Given the description of an element on the screen output the (x, y) to click on. 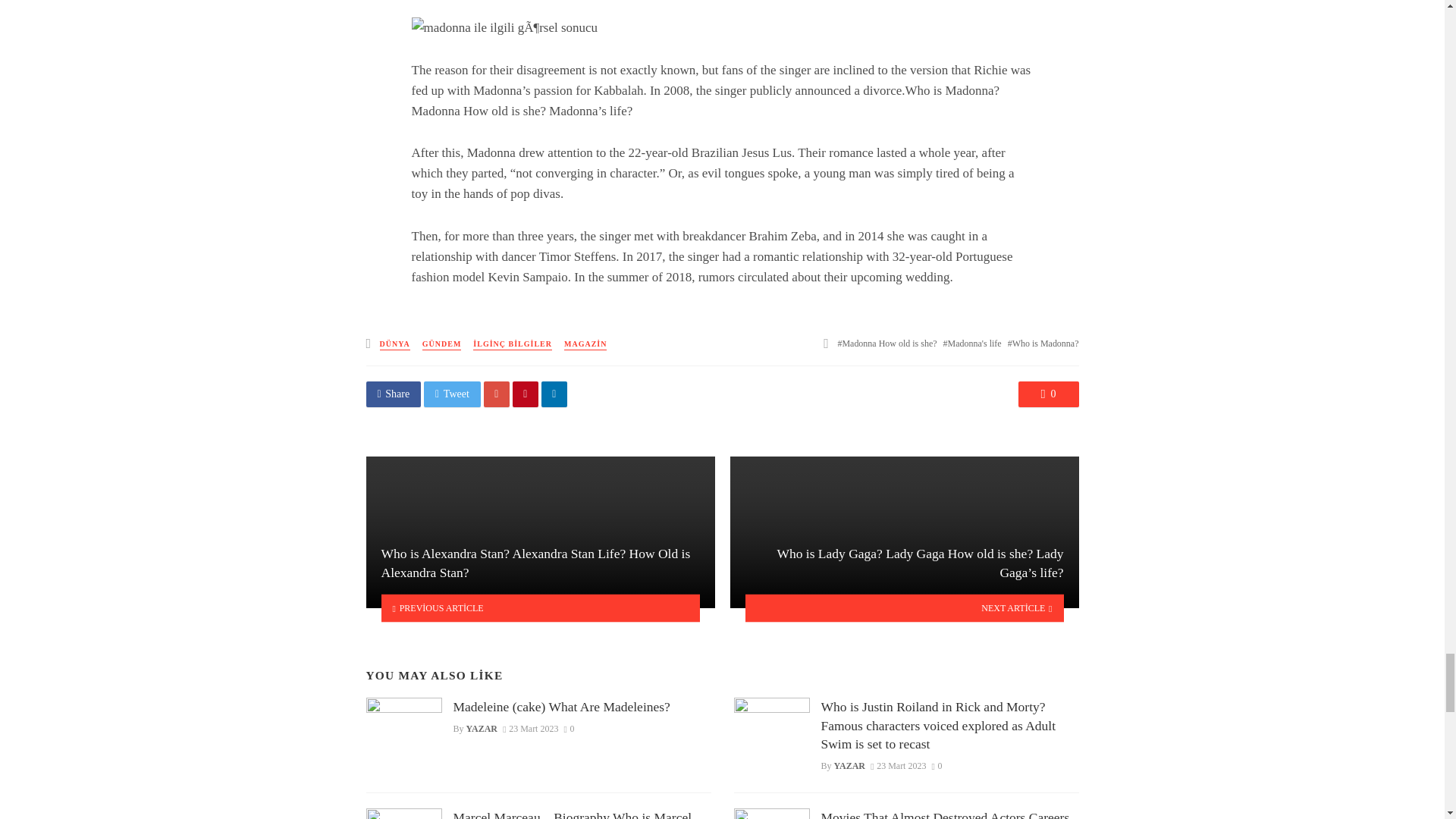
Madonna How old is she? (886, 343)
Mart 23, 2023 at 12:51 pm (529, 728)
0 Comments (569, 728)
Madonna's life (972, 343)
0 Comments (1047, 394)
MAGAZIN (585, 344)
Share on Pinterest (525, 394)
Share on Linkedin (554, 394)
Who is Madonna? (1042, 343)
Share on Twitter (451, 394)
